Given the description of an element on the screen output the (x, y) to click on. 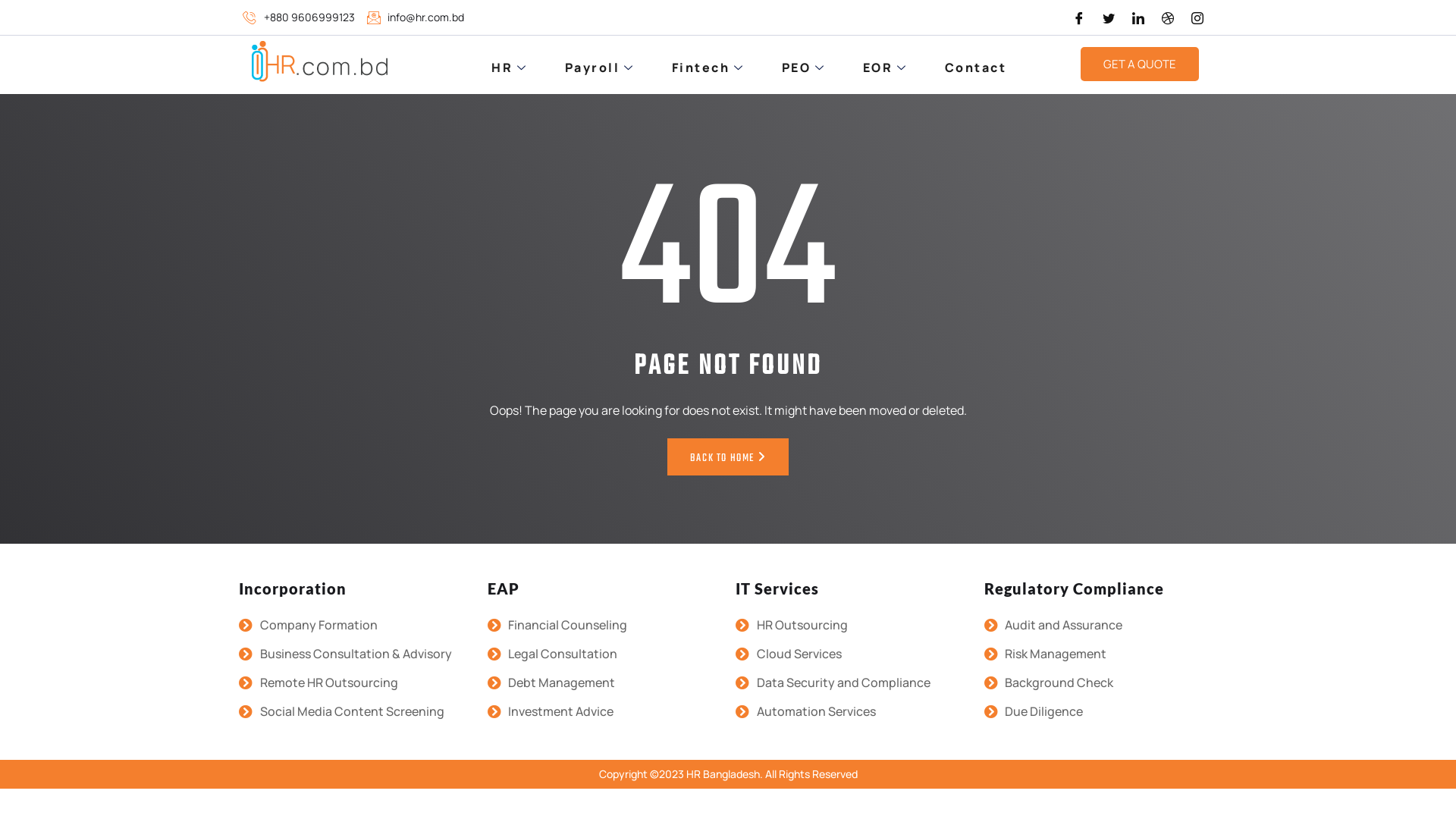
HR Element type: text (511, 67)
Remote HR Outsourcing Element type: text (355, 682)
Fintech Element type: text (710, 67)
Debt Management Element type: text (603, 682)
GET A QUOTE Element type: text (1139, 64)
BACK TO HOME Element type: text (727, 456)
Legal Consultation Element type: text (603, 653)
Contact Element type: text (975, 67)
PEO Element type: text (805, 67)
Payroll Element type: text (601, 67)
Investment Advice Element type: text (603, 710)
Social Media Content Screening Element type: text (355, 710)
EOR Element type: text (887, 67)
Company Formation Element type: text (355, 624)
Business Consultation & Advisory Element type: text (355, 653)
Financial Counseling Element type: text (603, 624)
